Given the description of an element on the screen output the (x, y) to click on. 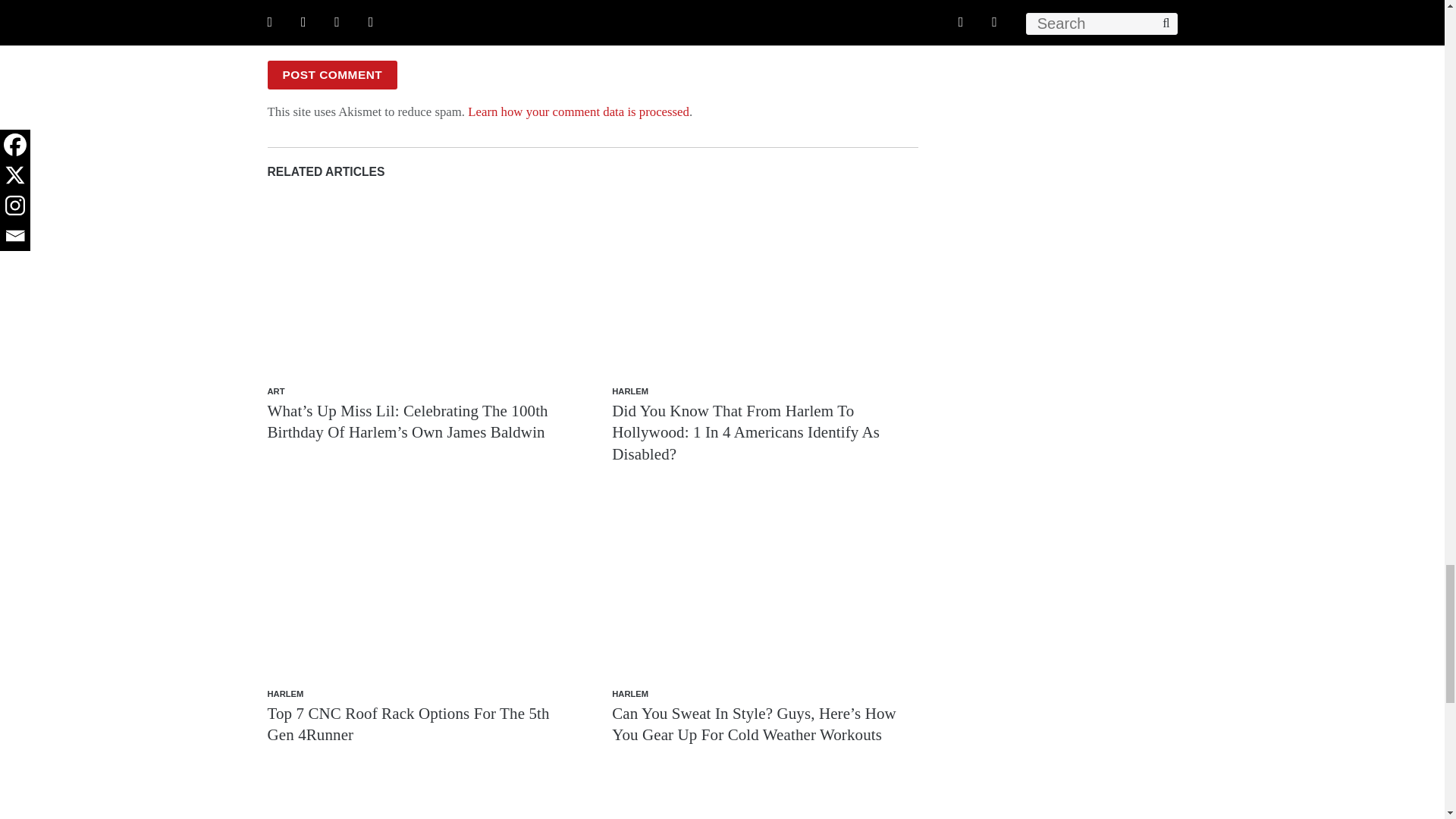
Learn how your comment data is processed (577, 111)
Post Comment (331, 74)
Post Comment (331, 74)
